Given the description of an element on the screen output the (x, y) to click on. 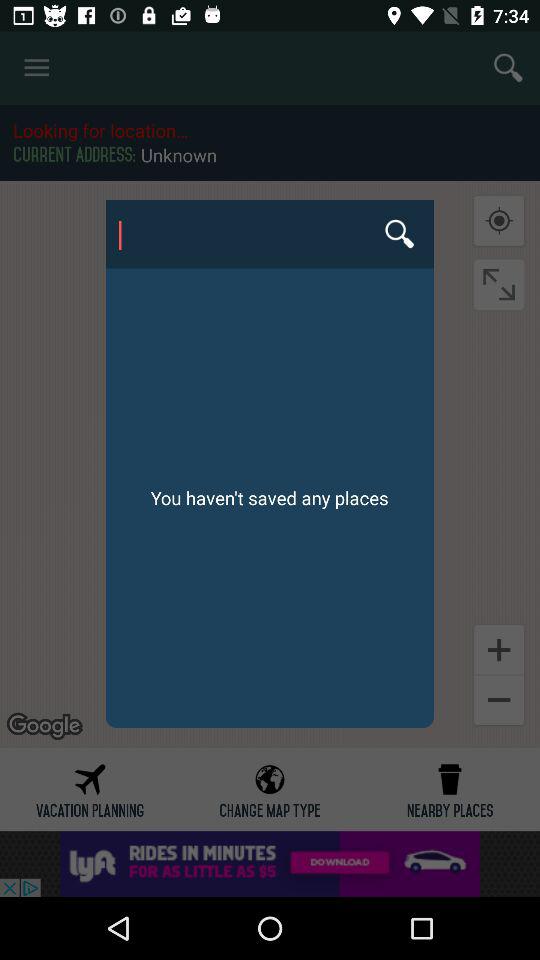
open san
san francisco
 at the top (269, 234)
